Given the description of an element on the screen output the (x, y) to click on. 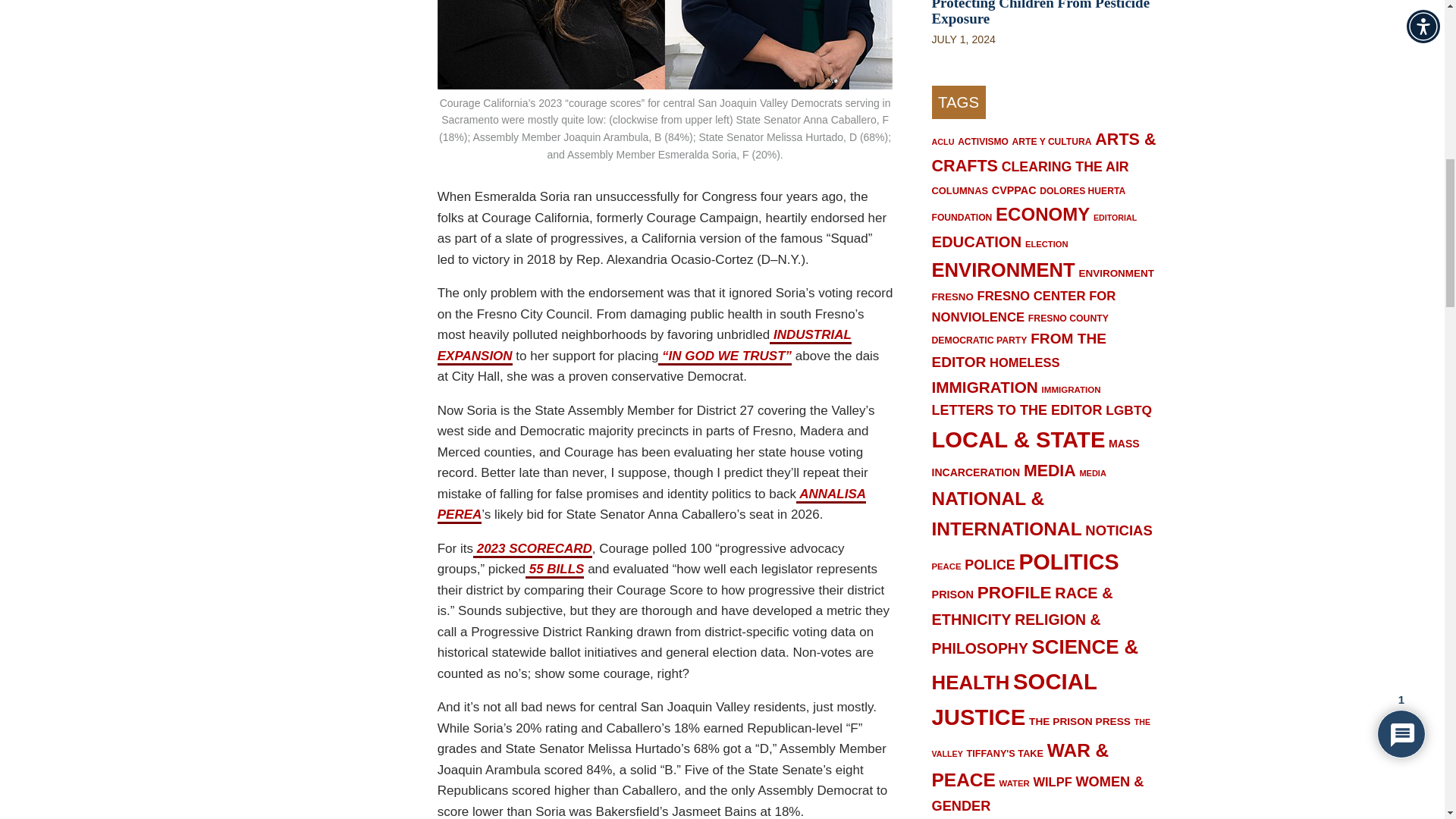
ANNALISA PEREA (652, 505)
INDUSTRIAL EXPANSION (644, 346)
2023 SCORECARD (532, 549)
55 BILLS (554, 569)
